Given the description of an element on the screen output the (x, y) to click on. 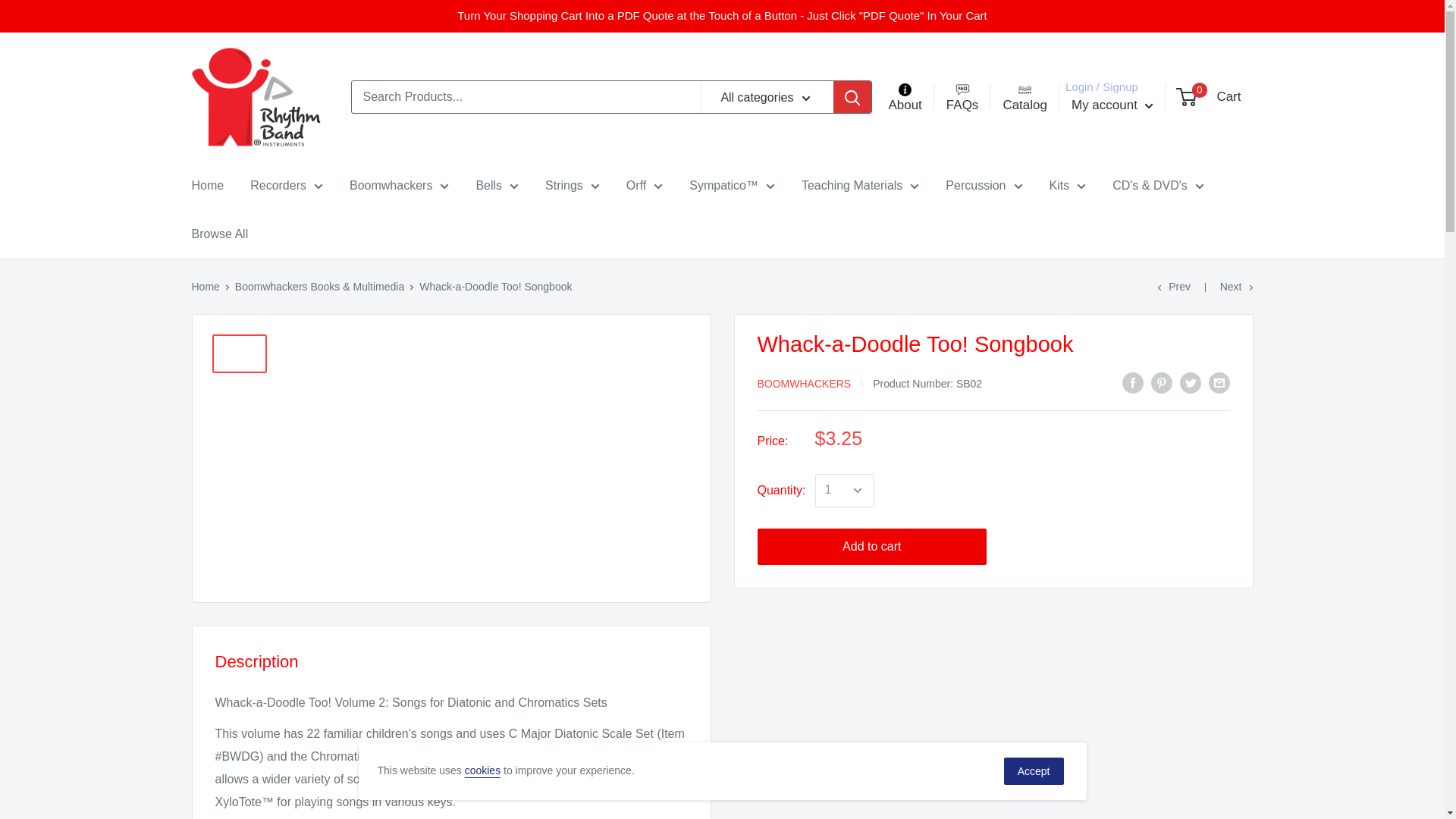
Privacy Policy (482, 770)
Resources (962, 96)
About (904, 96)
Download Catalog (1023, 96)
